Given the description of an element on the screen output the (x, y) to click on. 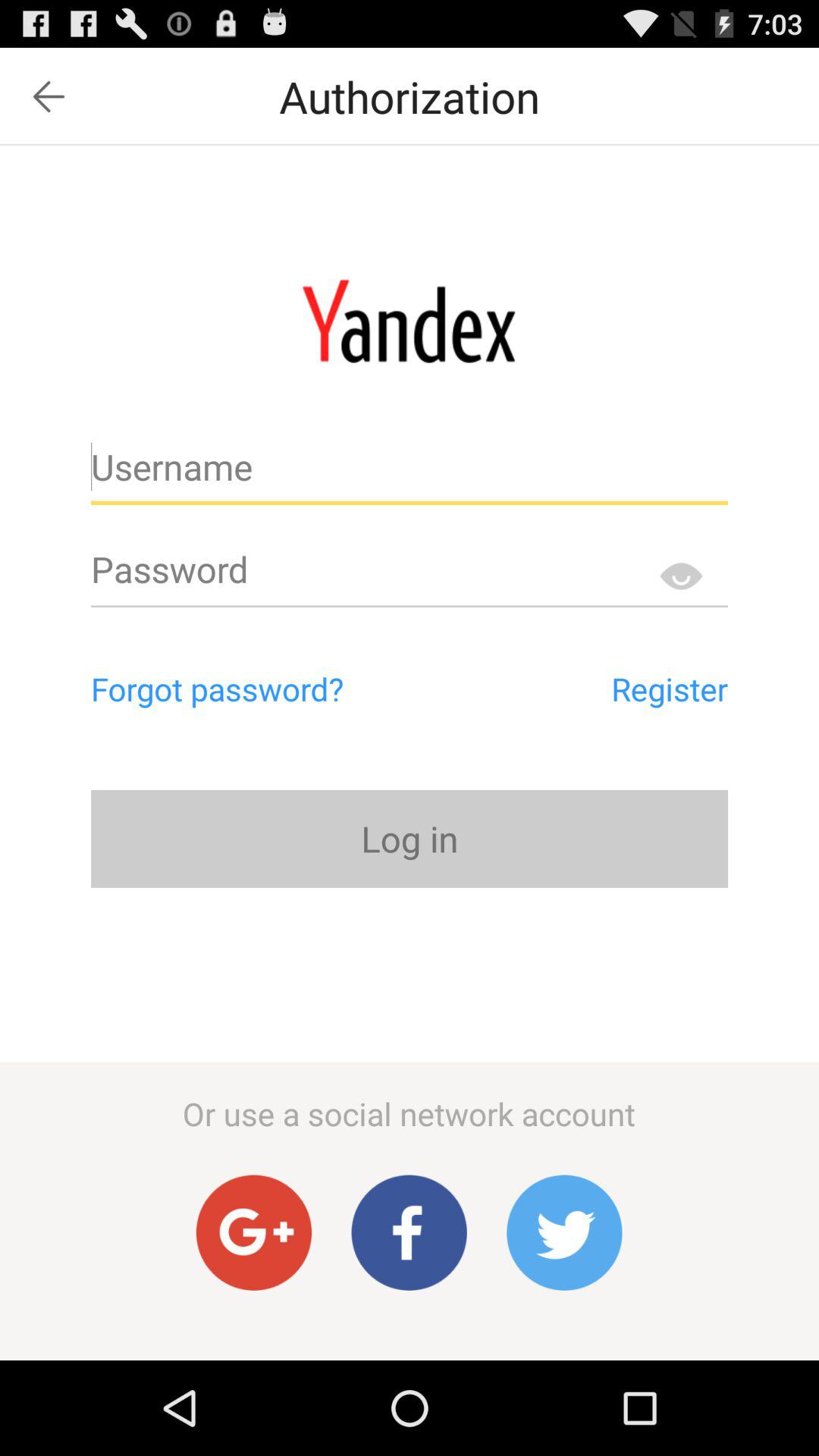
tap log in button (409, 838)
